Given the description of an element on the screen output the (x, y) to click on. 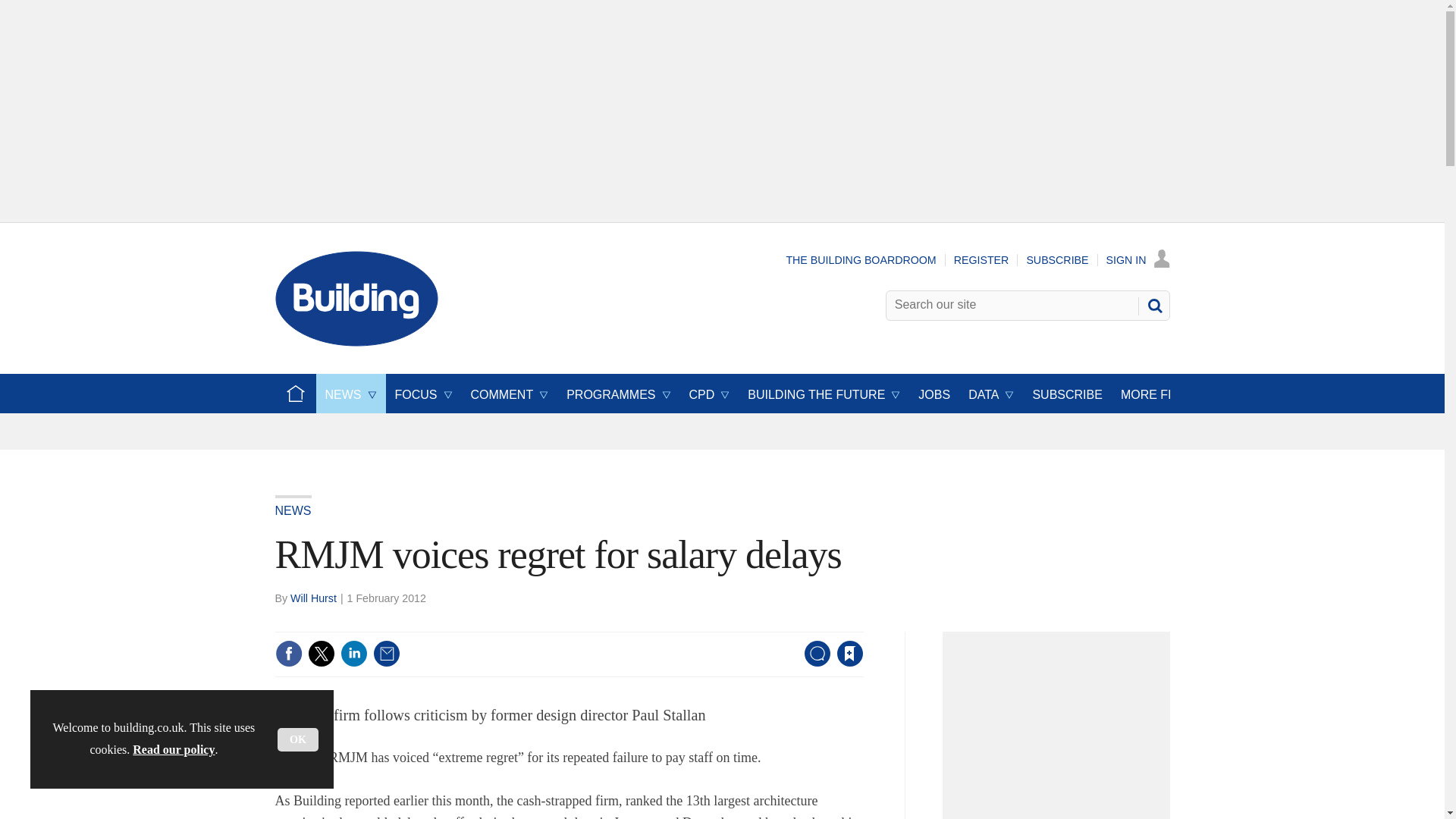
3rd party ad content (1059, 730)
SUBSCRIBE (1056, 259)
SEARCH (1153, 305)
THE BUILDING BOARDROOM (861, 259)
Insert Logo text (356, 341)
SIGN IN (1138, 259)
No comments (812, 662)
Share this on Facebook (288, 653)
Share this on Linked in (352, 653)
Read our policy (173, 748)
OK (298, 739)
REGISTER (981, 259)
Email this article (386, 653)
Share this on Twitter (320, 653)
